Given the description of an element on the screen output the (x, y) to click on. 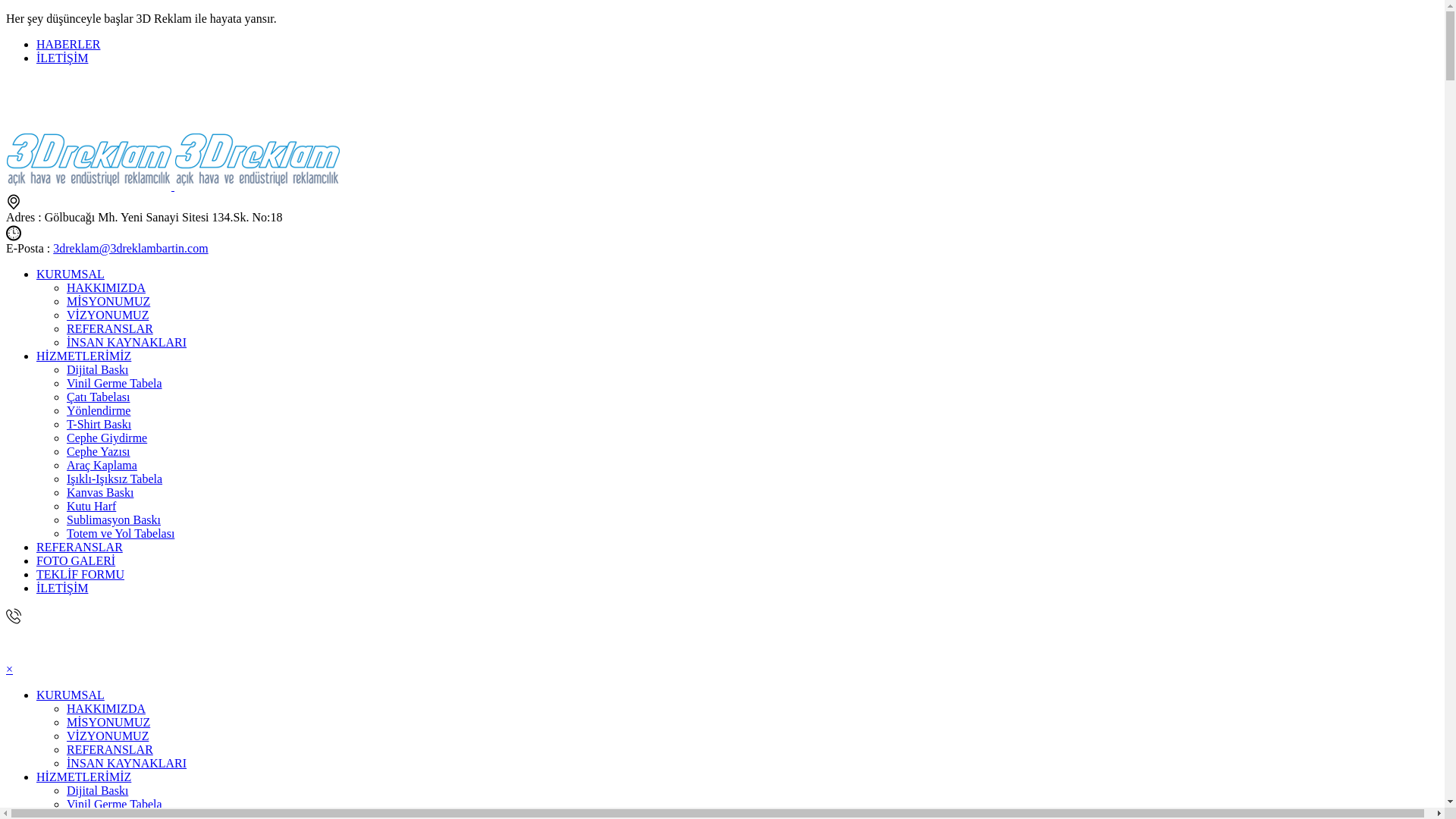
HABERLER Element type: text (68, 43)
REFERANSLAR Element type: text (79, 546)
Cephe Giydirme Element type: text (106, 437)
KURUMSAL Element type: text (70, 273)
Vinil Germe Tabela Element type: text (114, 803)
Vinil Germe Tabela Element type: text (114, 382)
3dreklam@3dreklambartin.com Element type: text (130, 247)
0 378 228 64 70 Element type: text (45, 643)
HAKKIMIZDA Element type: text (105, 287)
KURUMSAL Element type: text (70, 694)
REFERANSLAR Element type: text (109, 749)
HAKKIMIZDA Element type: text (105, 708)
Kutu Harf Element type: text (91, 505)
REFERANSLAR Element type: text (109, 328)
